Given the description of an element on the screen output the (x, y) to click on. 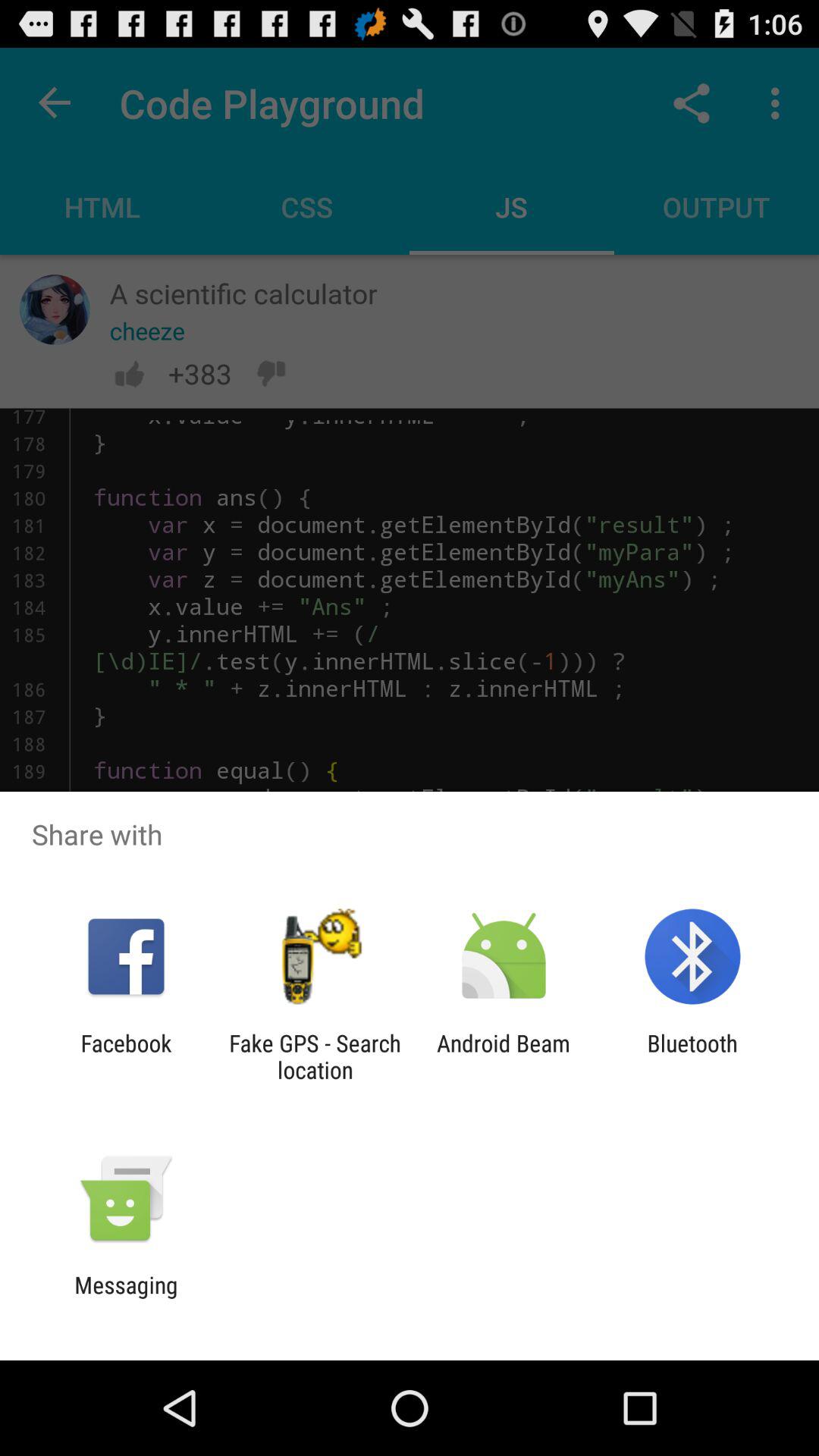
choose item to the right of facebook app (314, 1056)
